Given the description of an element on the screen output the (x, y) to click on. 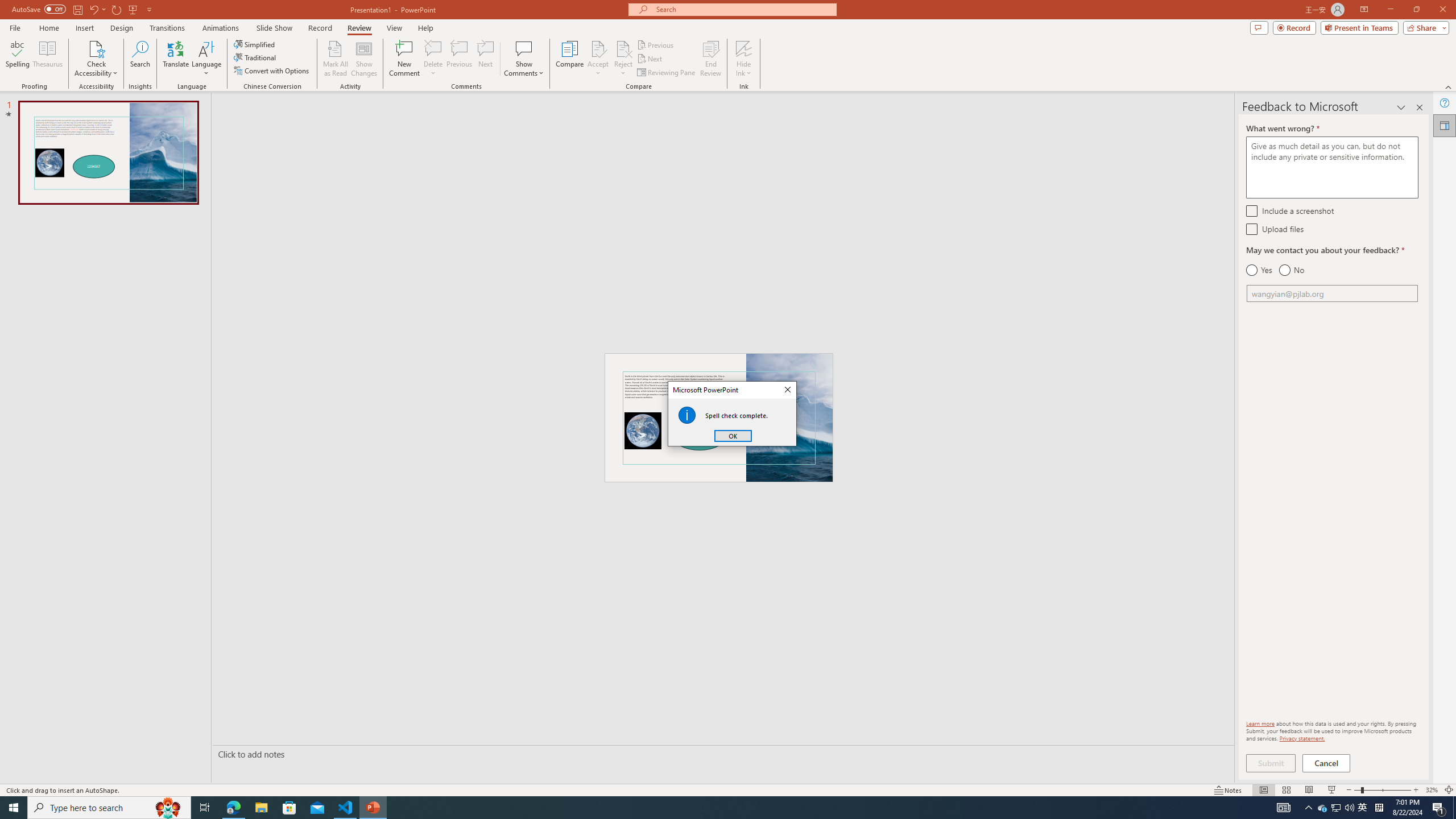
Q2790: 100% (1349, 807)
Translate (175, 58)
Search highlights icon opens search home window (167, 807)
Convert with Options... (272, 69)
Reject Change (622, 48)
Language (206, 58)
Microsoft Edge - 1 running window (233, 807)
End Review (710, 58)
Show desktop (1454, 807)
Cancel (1327, 763)
What went wrong? * (1332, 167)
